Given the description of an element on the screen output the (x, y) to click on. 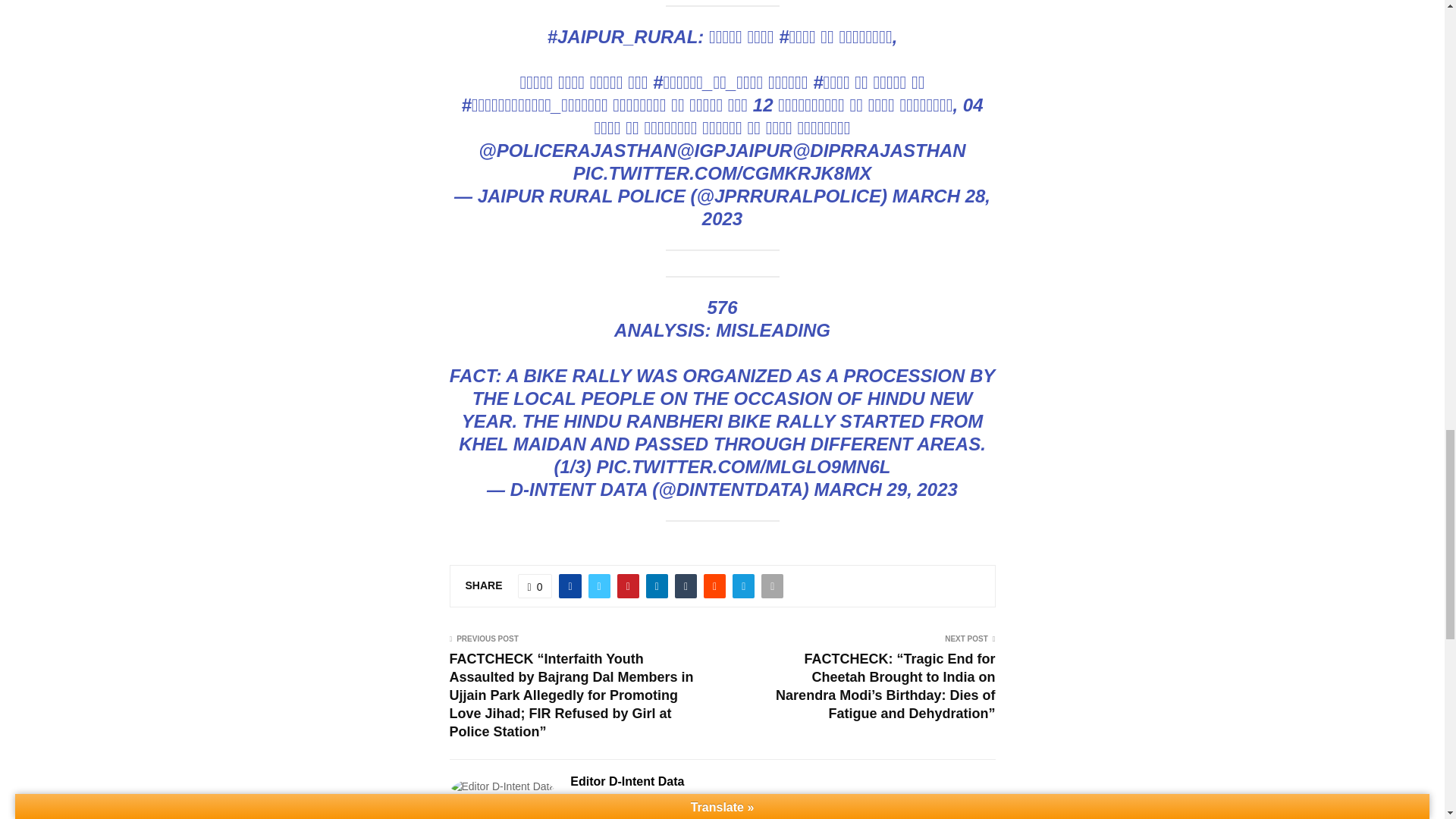
Like (535, 586)
MARCH 28, 2023 (845, 207)
MARCH 29, 2023 (884, 489)
Posts by Editor D-Intent Data (627, 781)
